Given the description of an element on the screen output the (x, y) to click on. 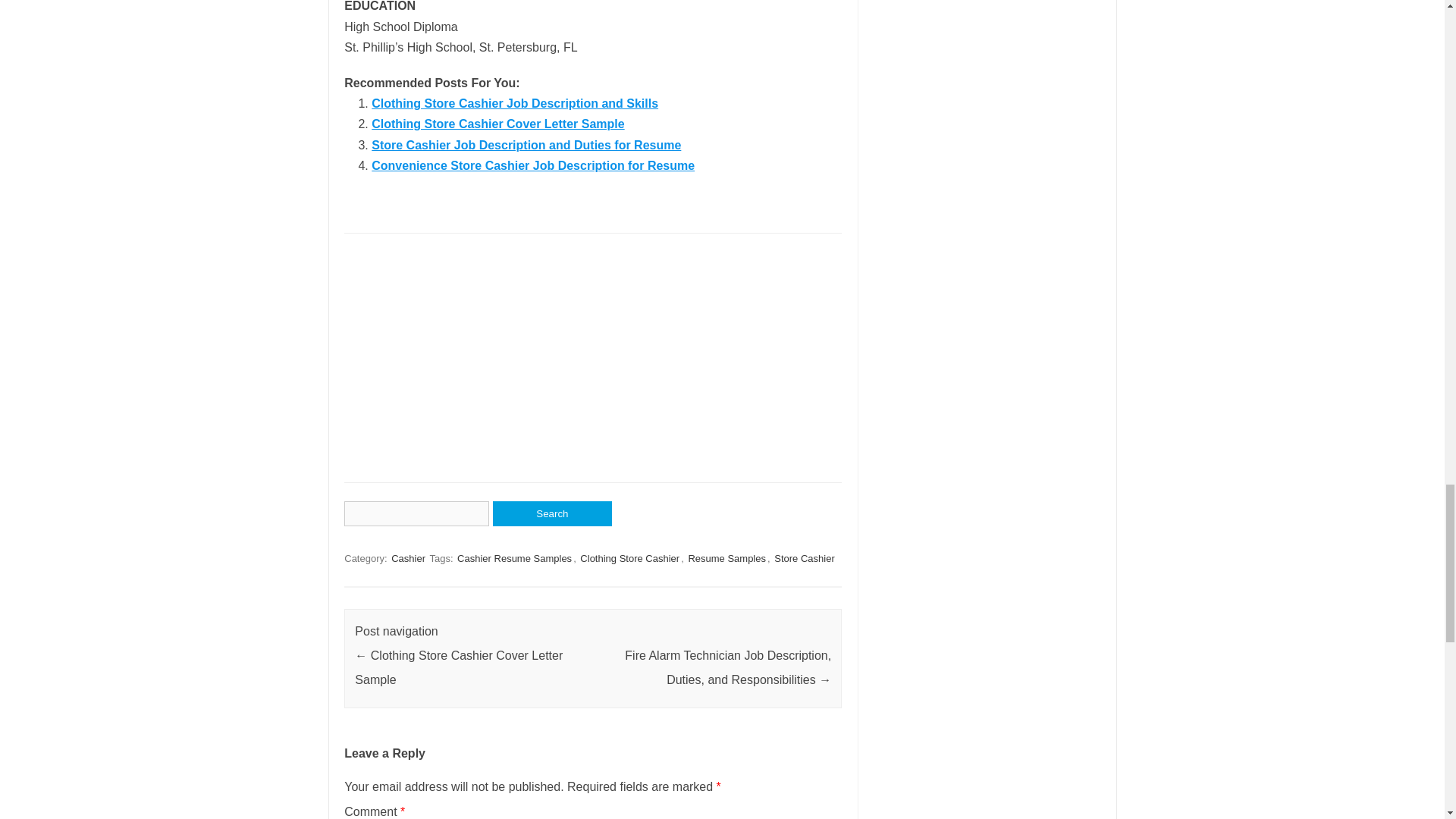
Clothing Store Cashier Job Description and Skills (514, 103)
Search (552, 513)
Convenience Store Cashier Job Description for Resume (532, 164)
Cashier (408, 558)
Clothing Store Cashier Cover Letter Sample (497, 123)
Search (552, 513)
Clothing Store Cashier Job Description and Skills (514, 103)
Store Cashier Job Description and Duties for Resume (526, 144)
Clothing Store Cashier (629, 558)
Clothing Store Cashier Cover Letter Sample (497, 123)
